Given the description of an element on the screen output the (x, y) to click on. 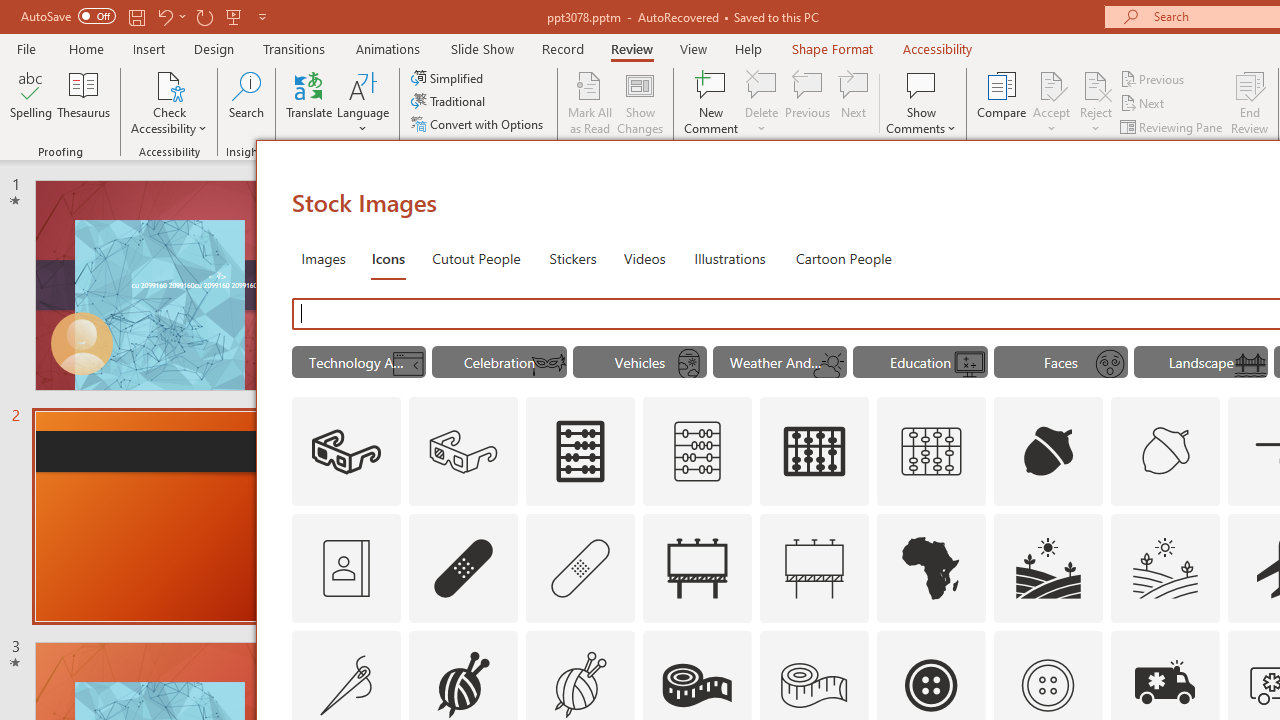
Illustrations (729, 258)
"Vehicles" Icons. (639, 362)
AutomationID: Icons_CmdTerminal_RTL_M (408, 364)
Thumbnail (1204, 645)
Traditional (449, 101)
Accept Change (1051, 84)
Simplified (449, 78)
